Given the description of an element on the screen output the (x, y) to click on. 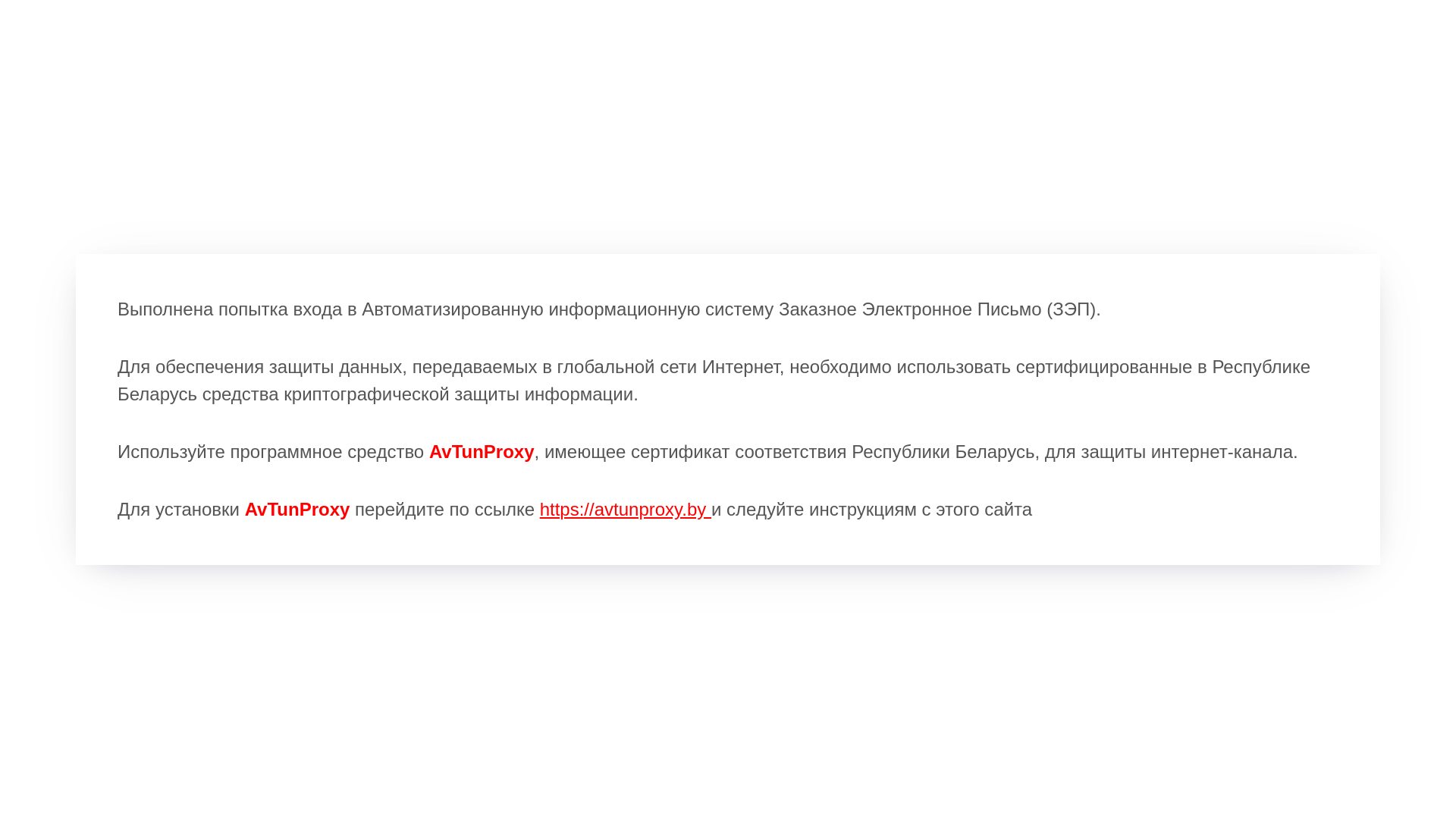
https://avtunproxy.by Element type: text (625, 508)
